Given the description of an element on the screen output the (x, y) to click on. 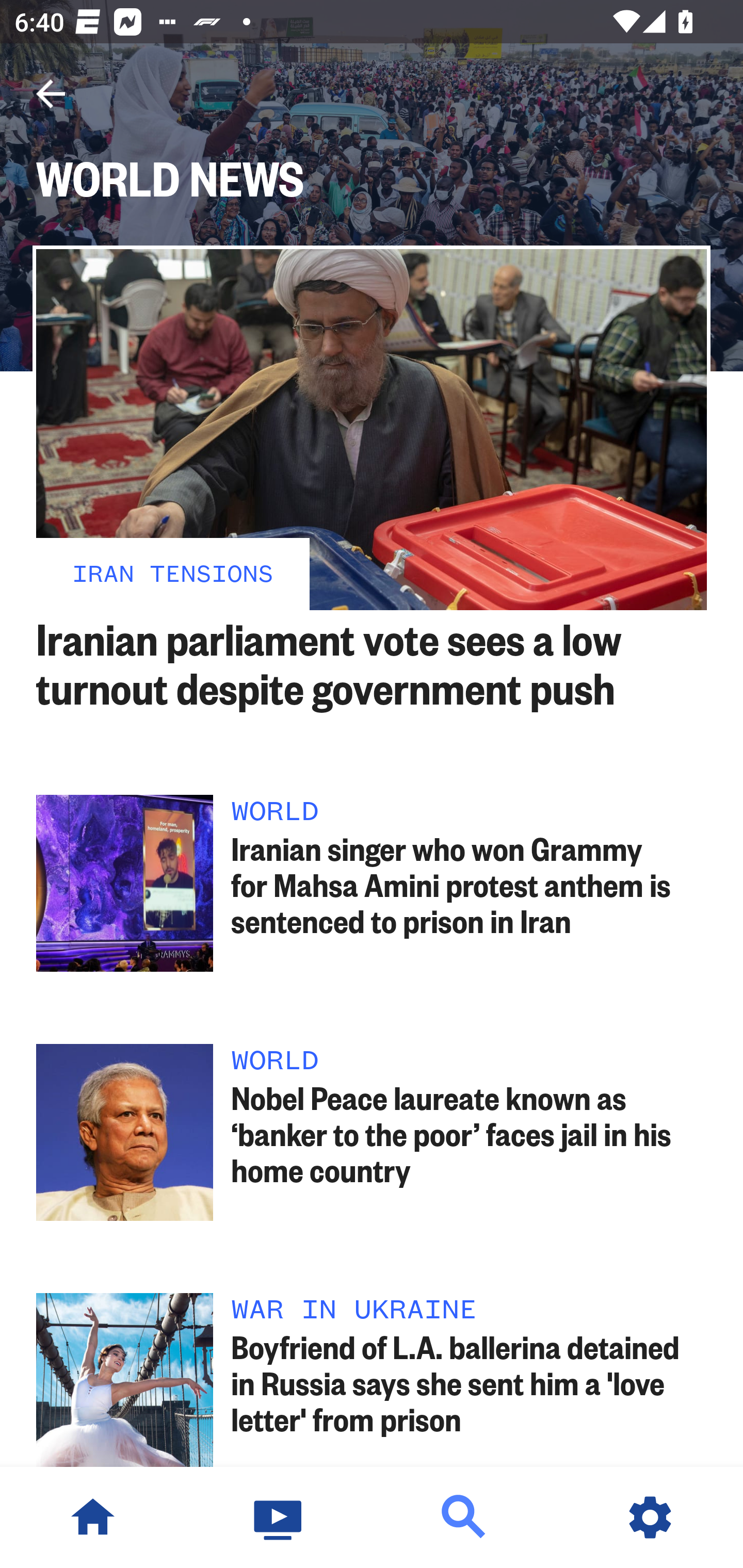
Navigate up (50, 93)
NBC News Home (92, 1517)
Watch (278, 1517)
Settings (650, 1517)
